Given the description of an element on the screen output the (x, y) to click on. 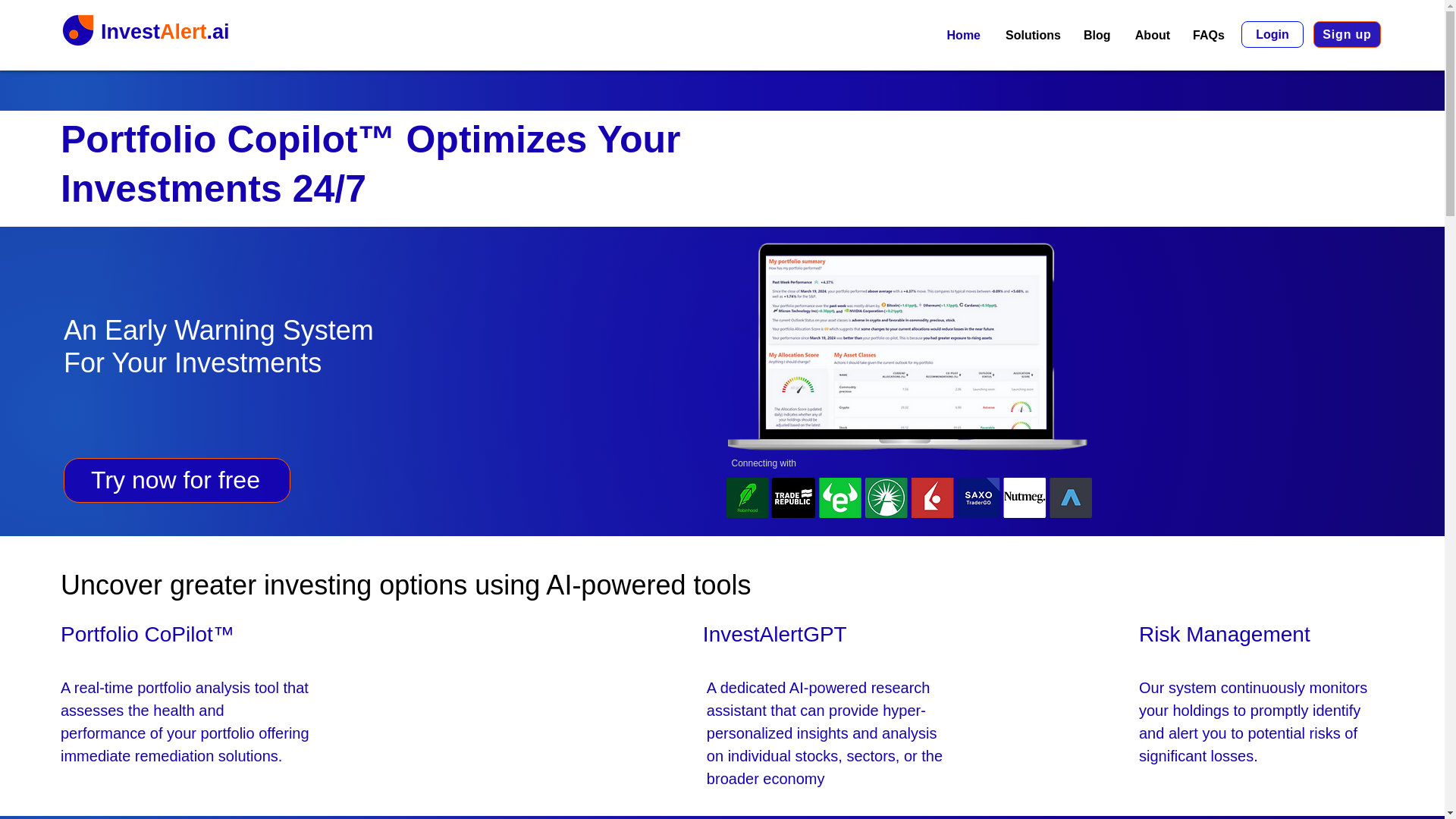
.ai (218, 31)
About (1150, 35)
FAQs (1207, 35)
InvestAlert (153, 31)
Home (962, 35)
Solutions (1031, 35)
Blog (1096, 35)
Login (1272, 34)
Try now for free (176, 479)
Sign up (1346, 34)
